Given the description of an element on the screen output the (x, y) to click on. 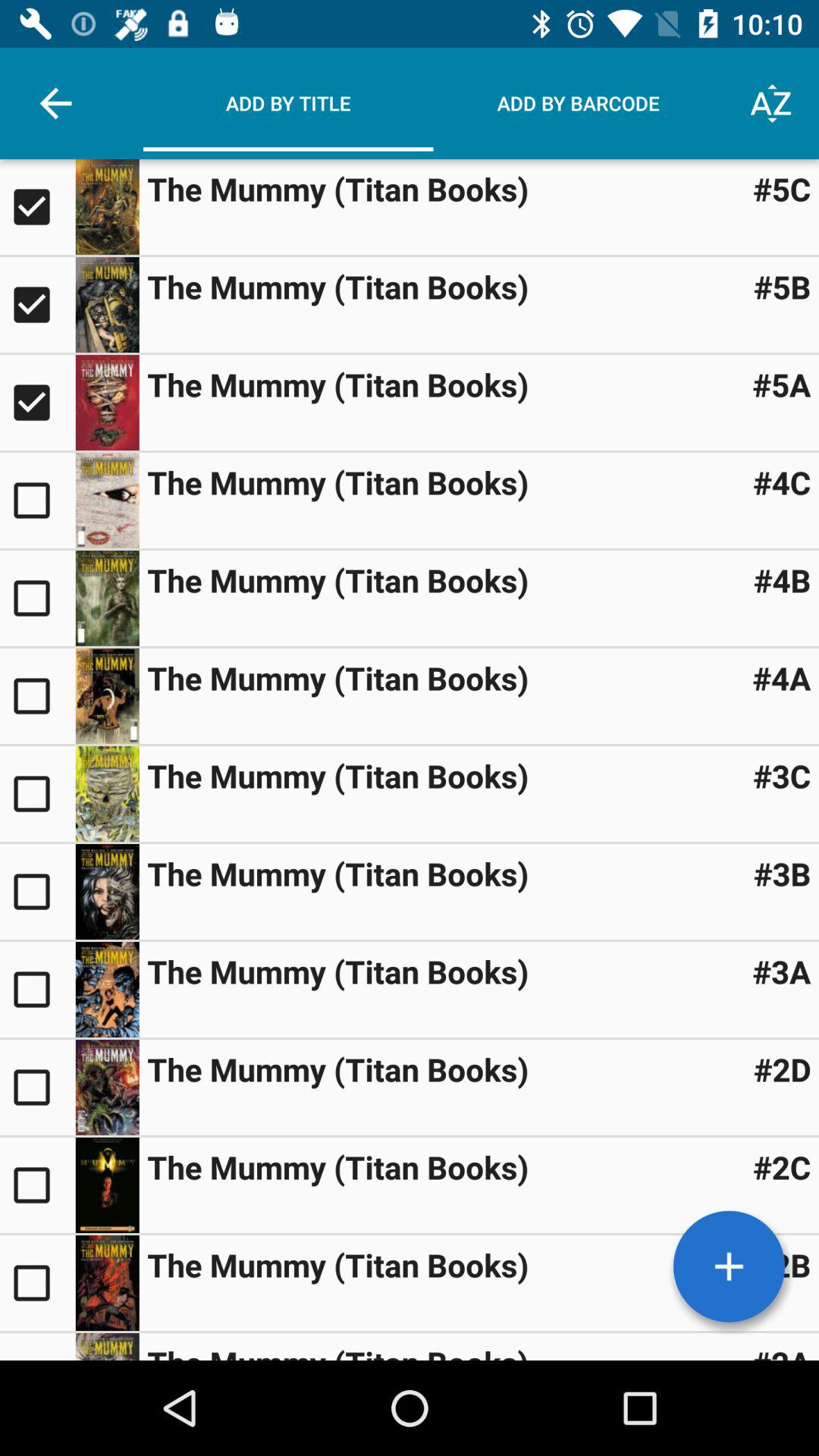
click the #4b icon (782, 579)
